Given the description of an element on the screen output the (x, y) to click on. 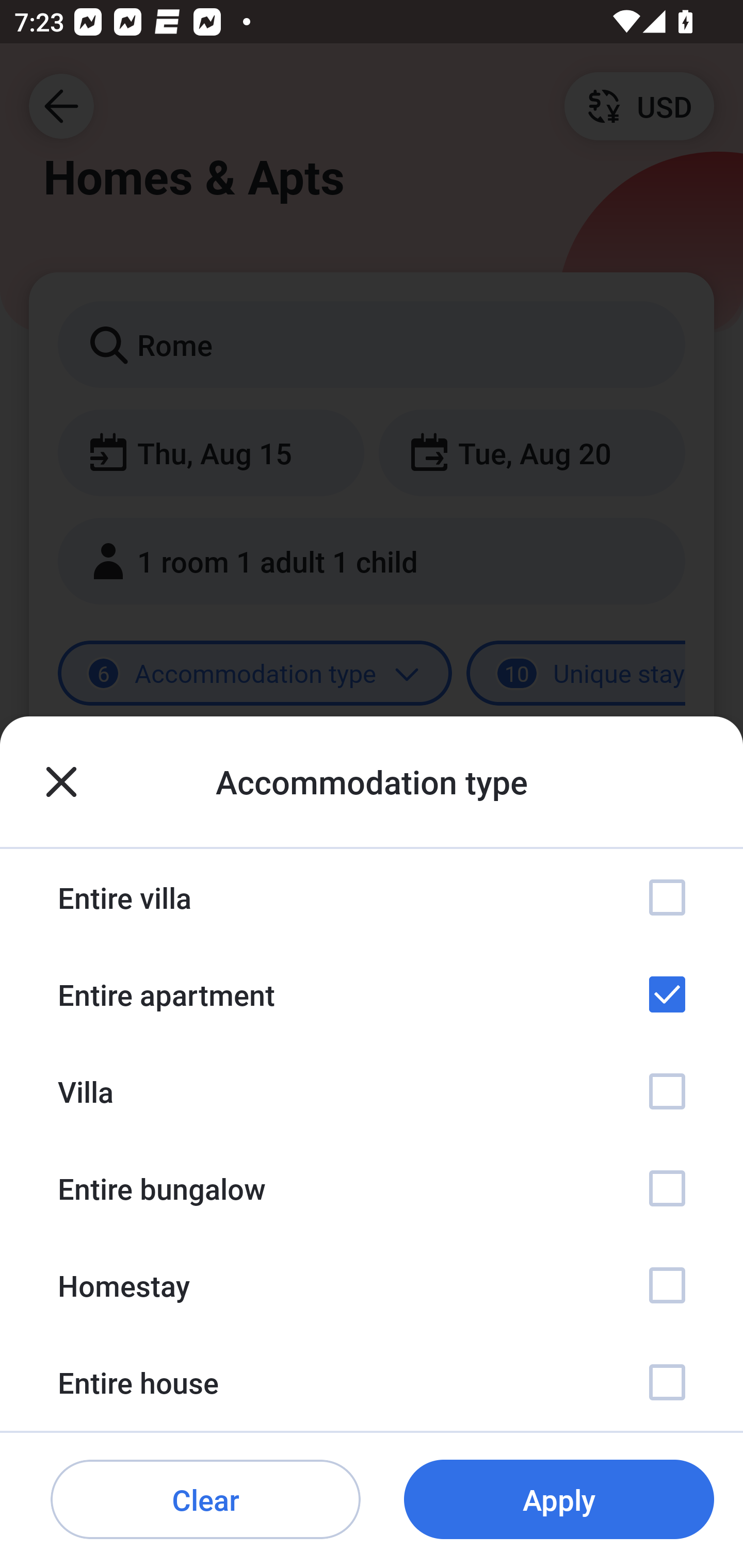
Entire villa (371, 897)
Entire apartment (371, 994)
Villa (371, 1091)
Entire bungalow (371, 1188)
Homestay (371, 1284)
Entire house (371, 1382)
Clear (205, 1499)
Apply (559, 1499)
